Given the description of an element on the screen output the (x, y) to click on. 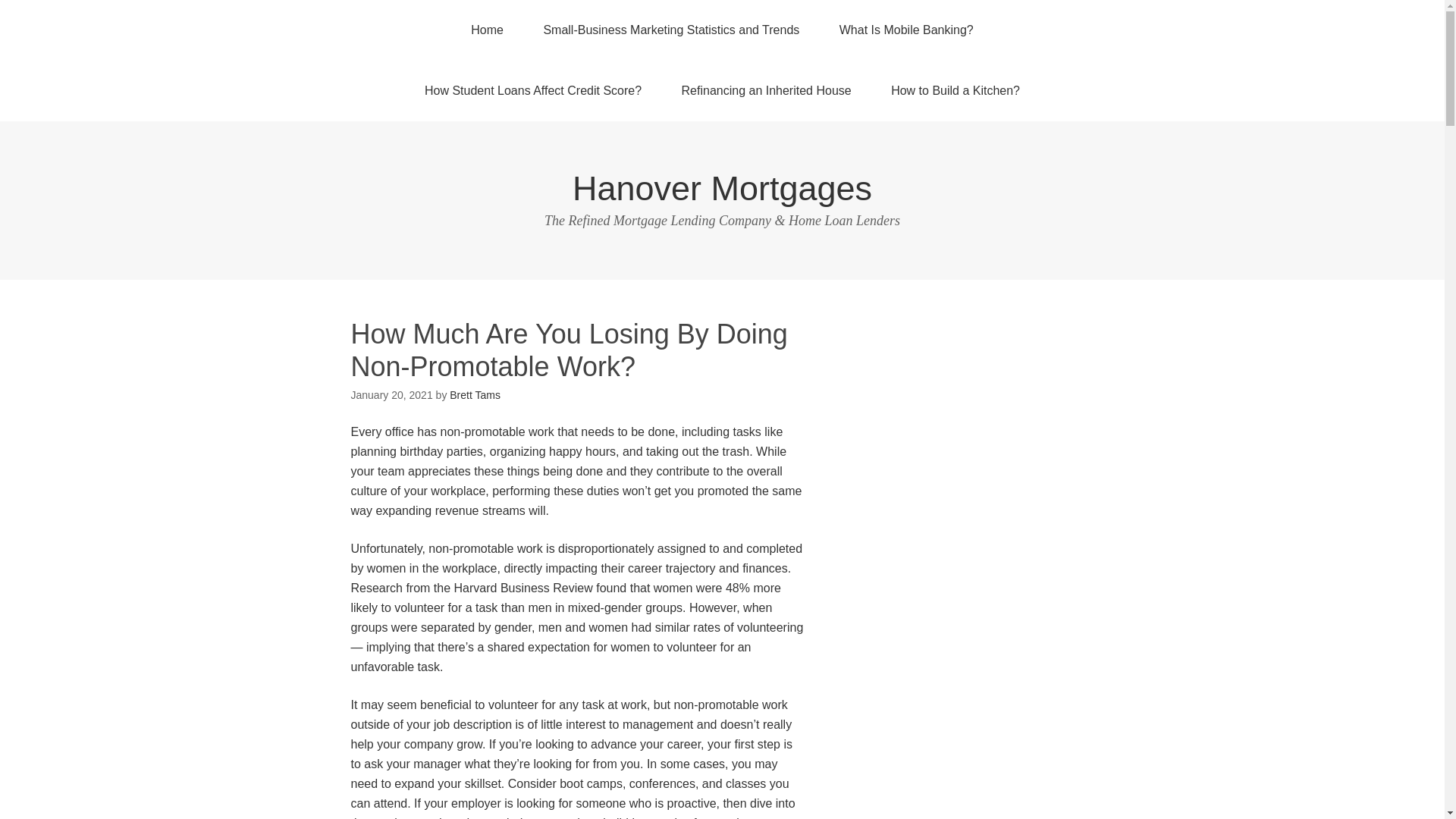
Brett Tams (474, 395)
Hanover Mortgages (722, 188)
How Student Loans Affect Credit Score? (532, 90)
Home (486, 30)
Hanover Mortgages (722, 188)
Posts by Brett Tams (474, 395)
Small-Business Marketing Statistics and Trends (670, 30)
Refinancing an Inherited House (766, 90)
Wednesday, January 20, 2021, 12:04 pm (391, 395)
